Given the description of an element on the screen output the (x, y) to click on. 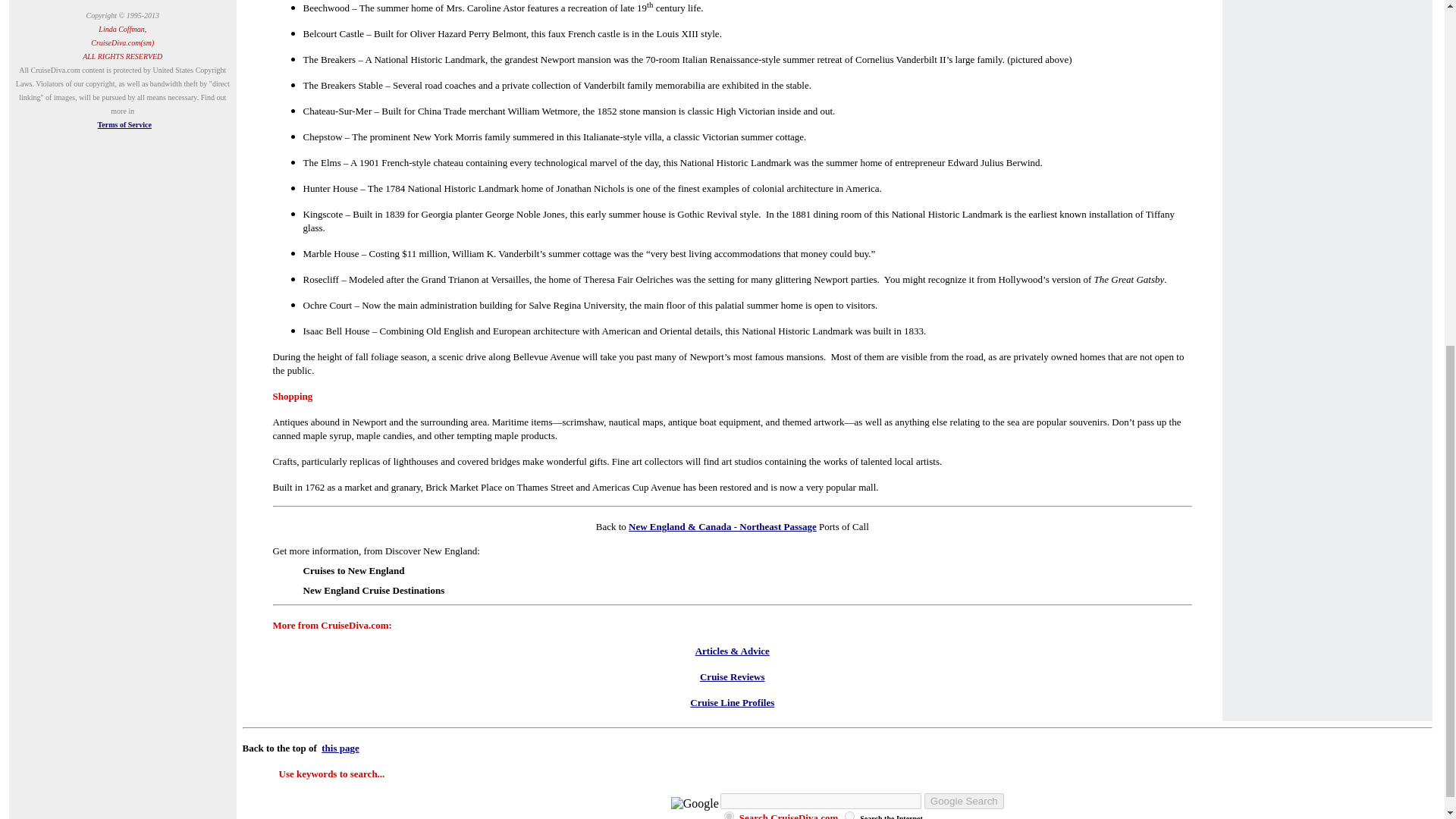
Terms of Service (124, 124)
Cruise Reviews (732, 676)
this page (339, 747)
Google Search (964, 801)
Cruise Line Profiles (732, 702)
Google Search (964, 801)
